Given the description of an element on the screen output the (x, y) to click on. 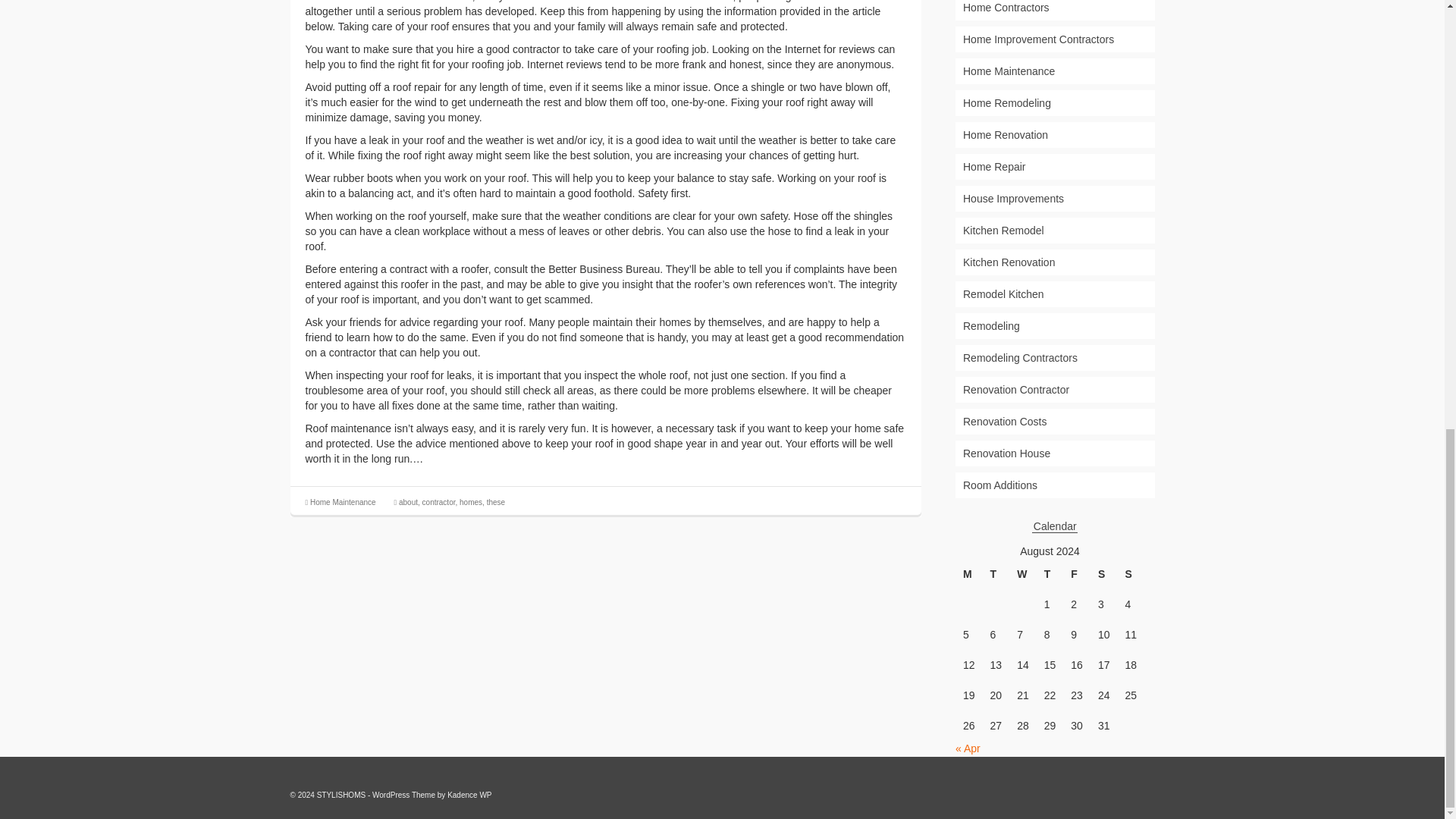
Sunday (1130, 574)
Monday (968, 574)
Wednesday (1022, 574)
Thursday (1050, 574)
Saturday (1104, 574)
Friday (1076, 574)
Tuesday (996, 574)
